Given the description of an element on the screen output the (x, y) to click on. 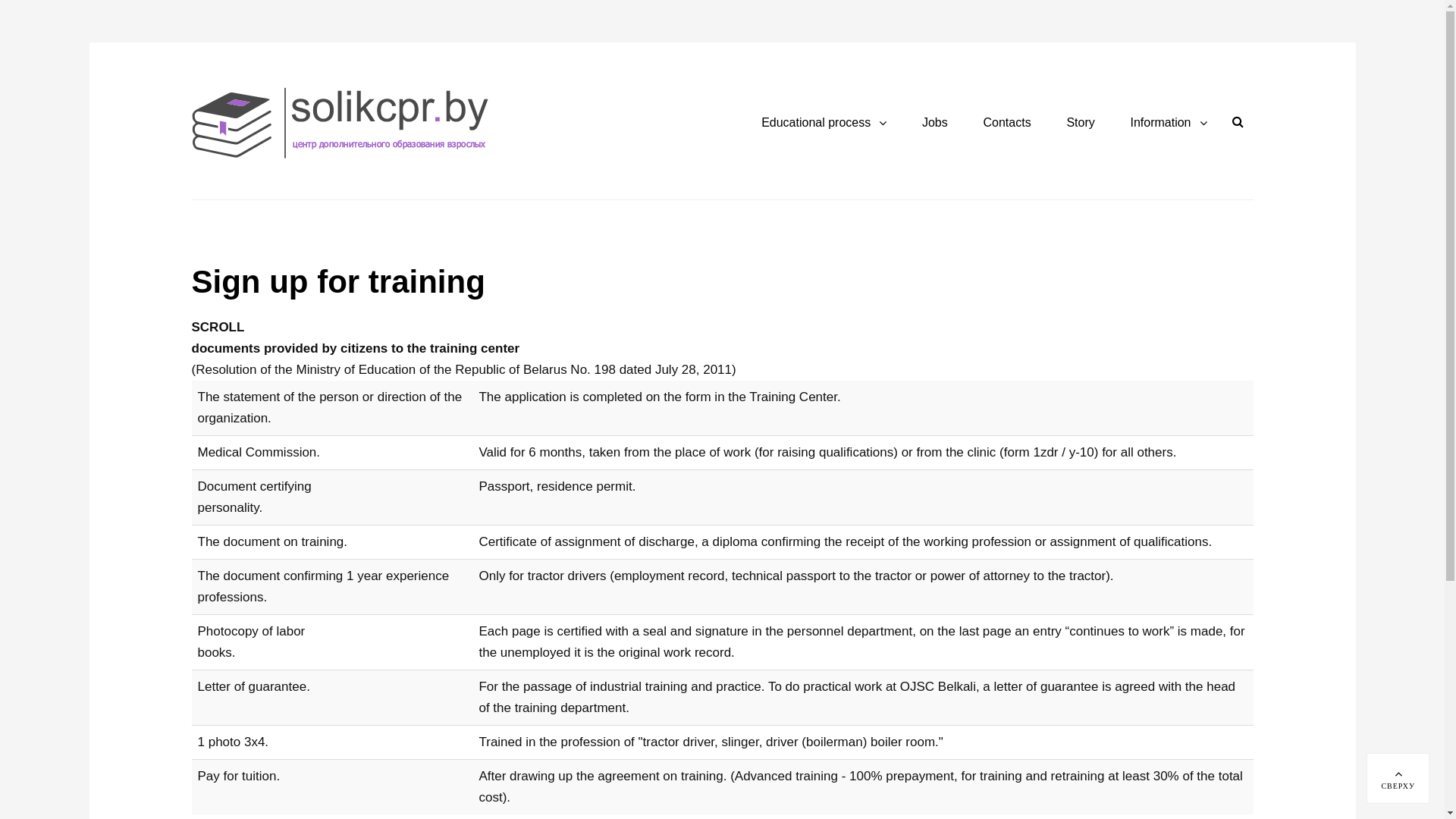
Jobs Element type: text (934, 123)
Search Element type: text (1237, 121)
Skip to content Element type: text (89, 42)
Story Element type: text (1080, 123)
Contacts Element type: text (1006, 123)
Educational process Element type: text (823, 123)
Information Element type: text (1167, 123)
